Given the description of an element on the screen output the (x, y) to click on. 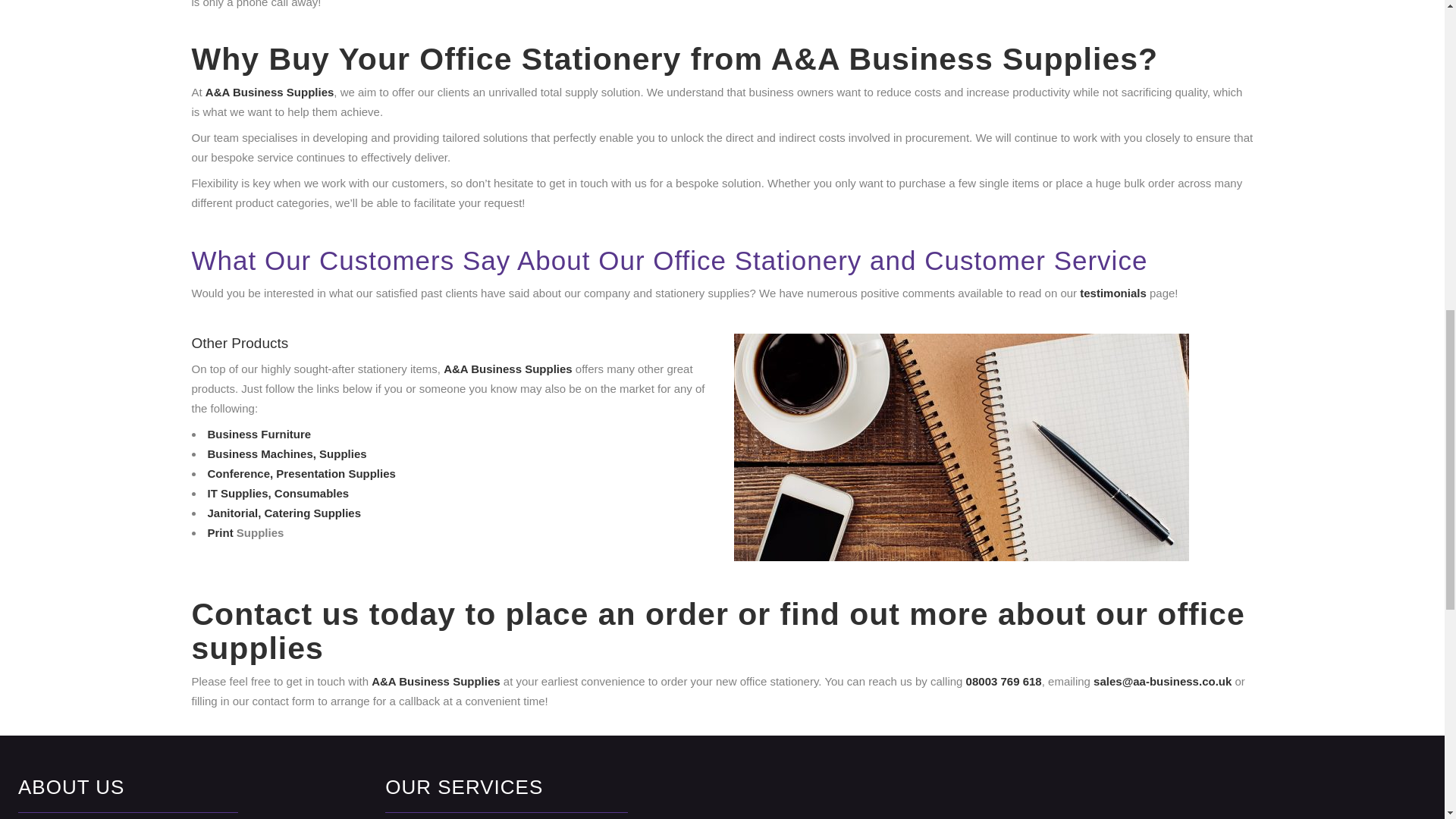
Office Stationery (961, 447)
